Given the description of an element on the screen output the (x, y) to click on. 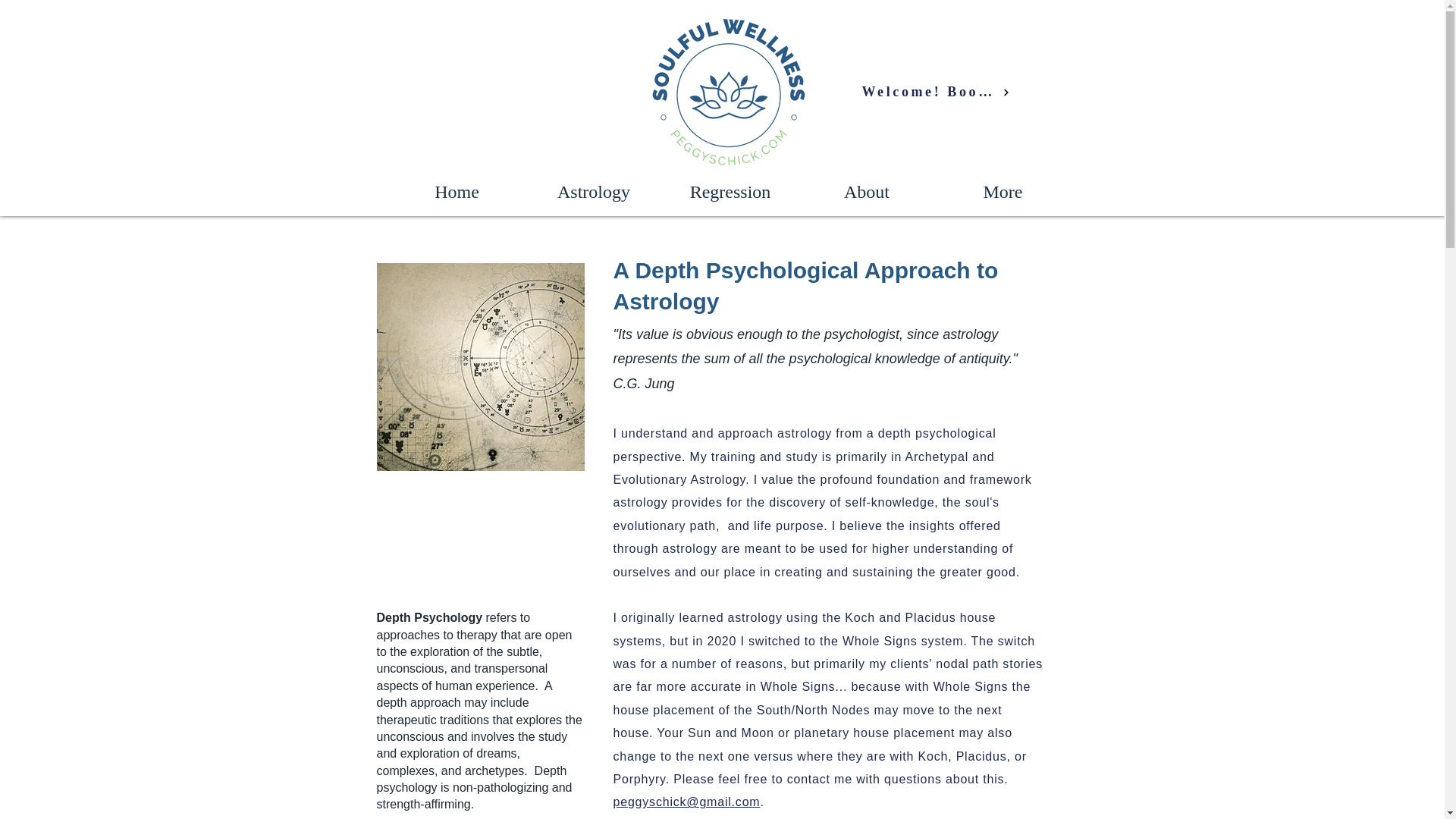
More (1002, 191)
Welcome! Book Now (935, 92)
Home (456, 191)
Regression (729, 191)
About (865, 191)
